Given the description of an element on the screen output the (x, y) to click on. 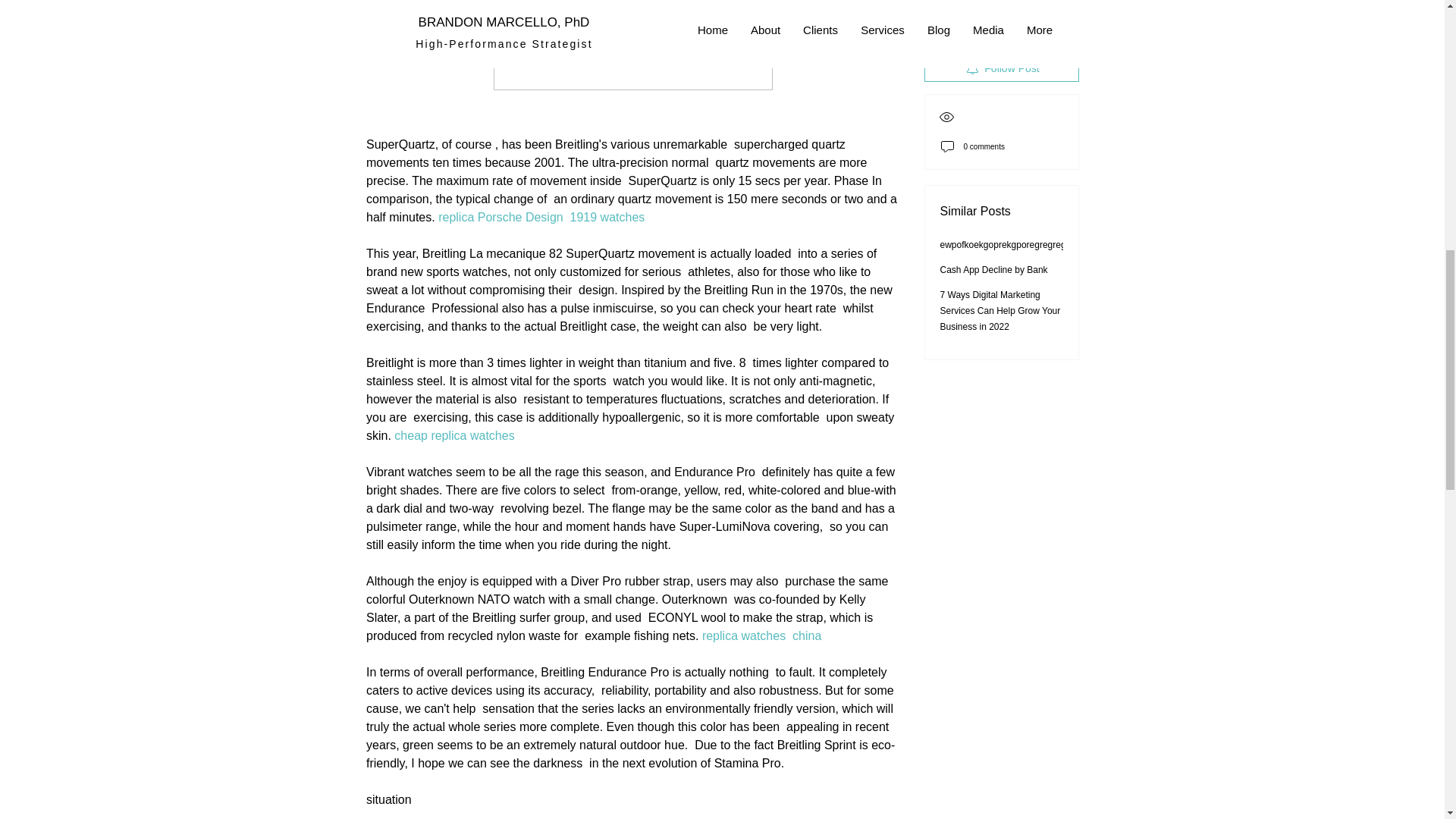
replica watches  china  (762, 635)
replica Porsche Design  1919 watches  (542, 216)
cheap replica watches   (457, 435)
